Given the description of an element on the screen output the (x, y) to click on. 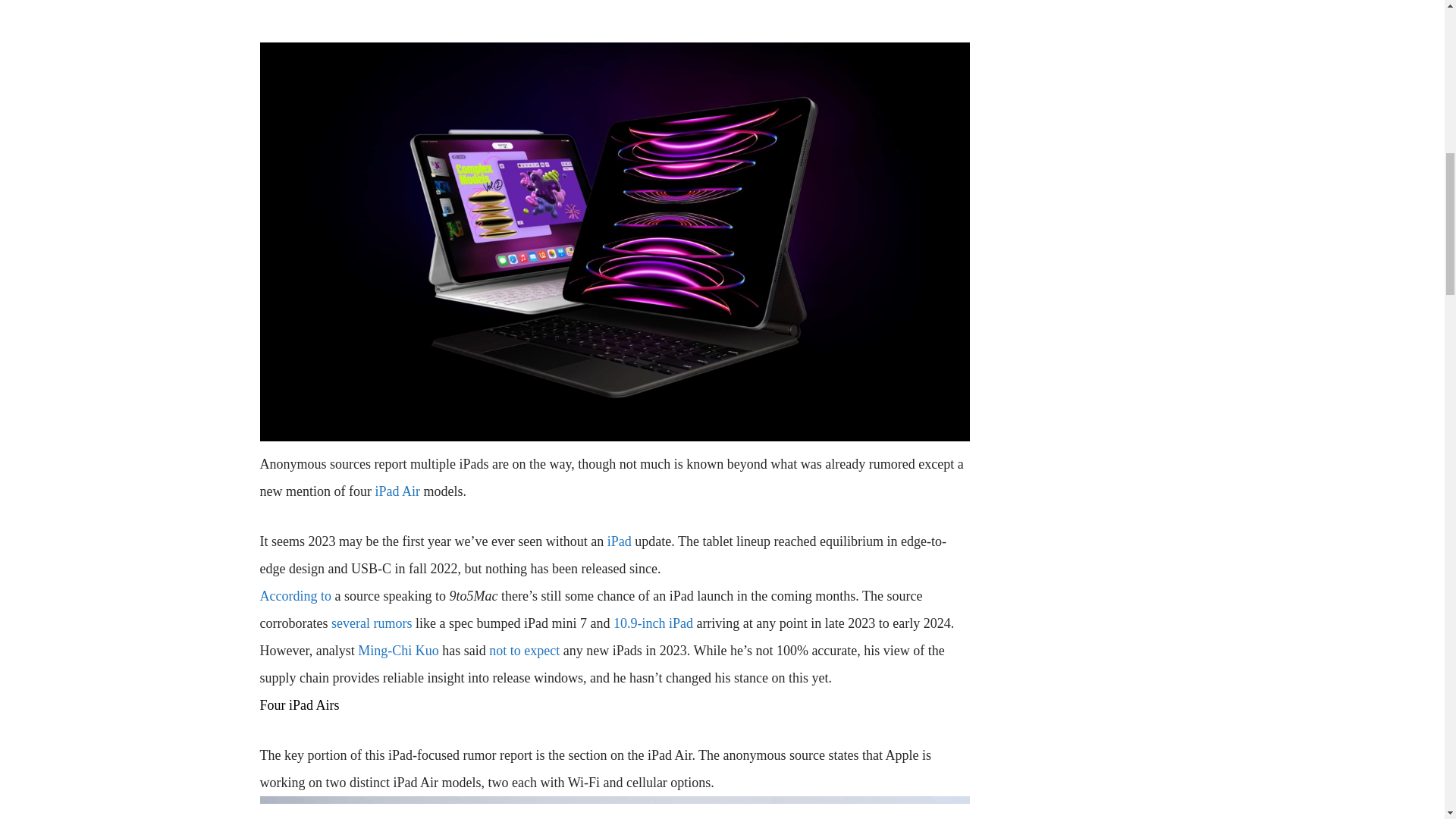
Ming-Chi Kuo (398, 650)
not to expect (524, 650)
iPad (619, 540)
10.9-inch iPad (652, 622)
10.9-inch iPad (652, 622)
iPad Air (397, 491)
several rumors (371, 622)
iPad (619, 540)
According to (294, 595)
iPad Air (397, 491)
Ming-Chi Kuo (398, 650)
